Given the description of an element on the screen output the (x, y) to click on. 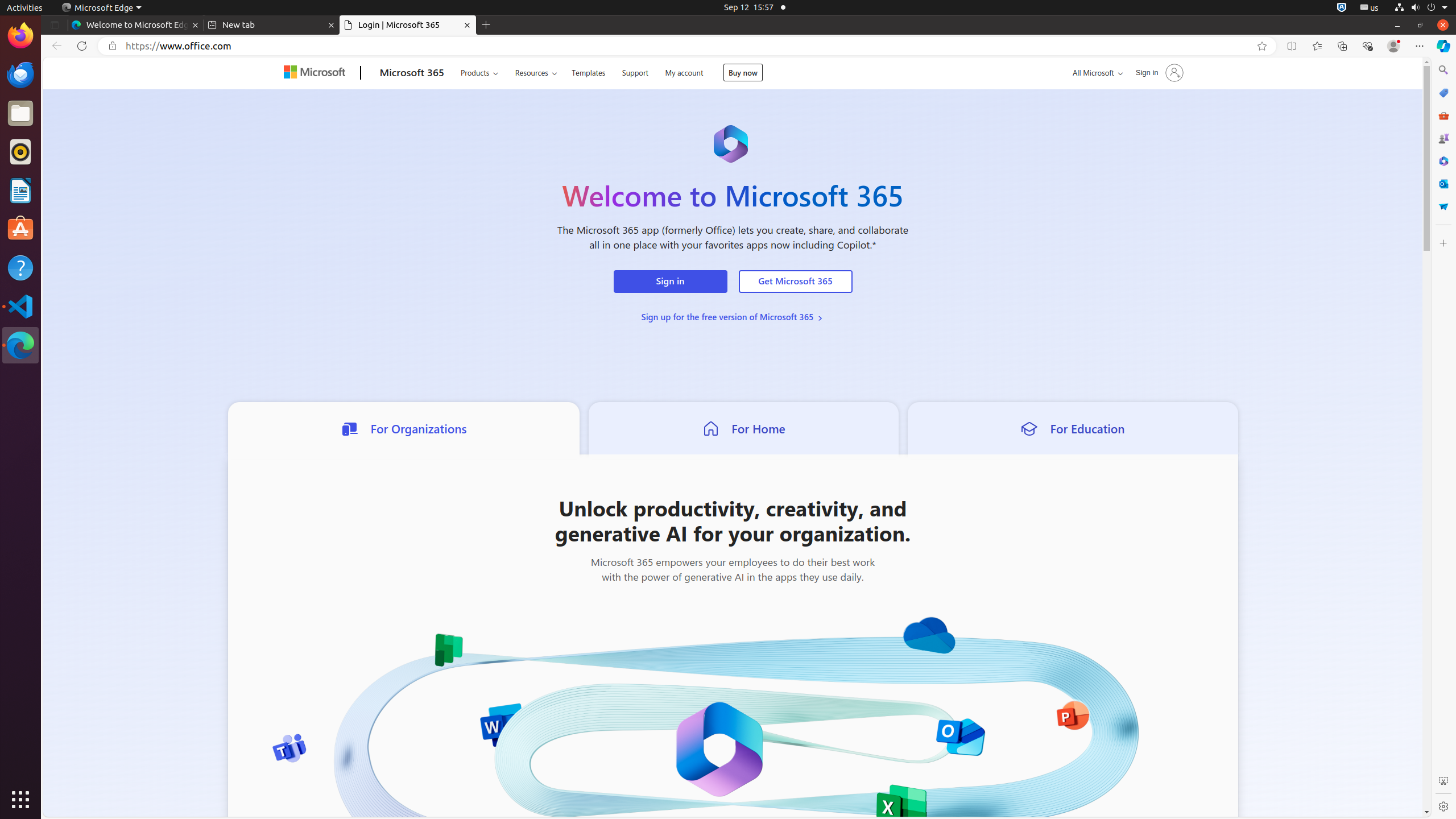
Tools Element type: push-button (1443, 115)
Resources  Element type: push-button (535, 72)
Copilot (Ctrl+Shift+.) Element type: push-button (1443, 45)
:1.72/StatusNotifierItem Element type: menu (1341, 7)
Get Microsoft 365 Element type: push-button (795, 281)
